Given the description of an element on the screen output the (x, y) to click on. 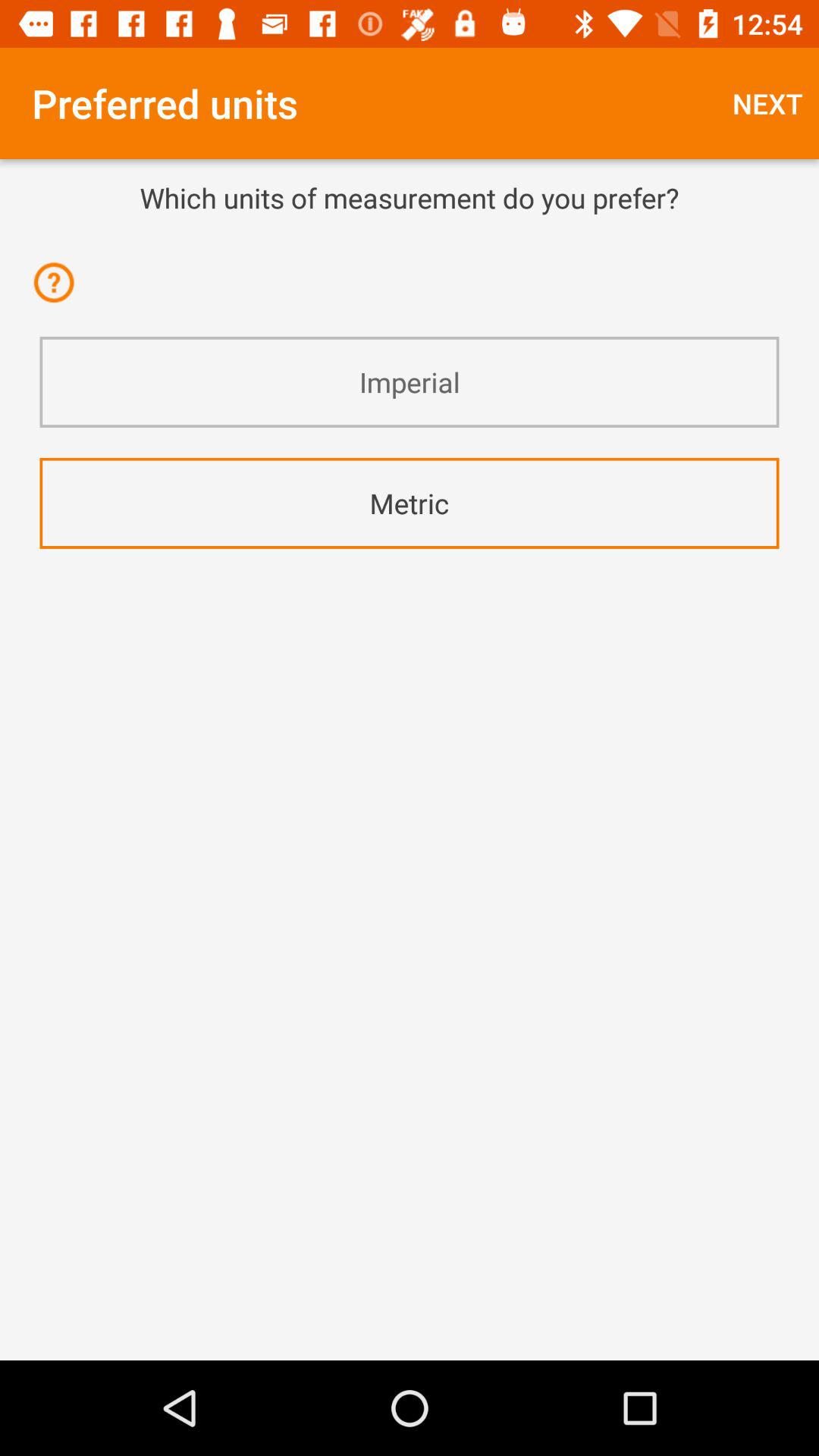
open the item below next item (409, 197)
